Given the description of an element on the screen output the (x, y) to click on. 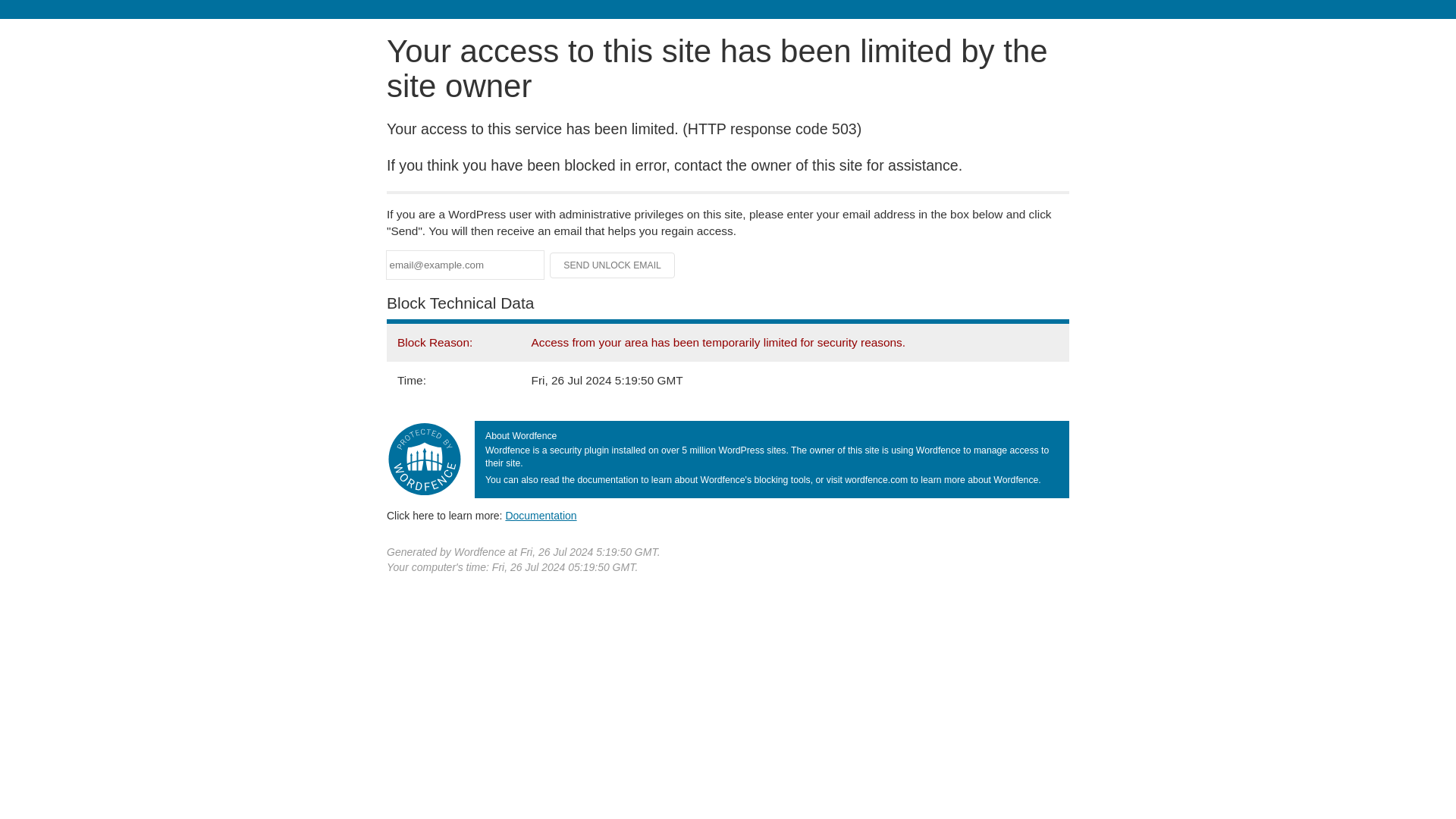
Send Unlock Email (612, 265)
Documentation (540, 515)
Send Unlock Email (612, 265)
